Given the description of an element on the screen output the (x, y) to click on. 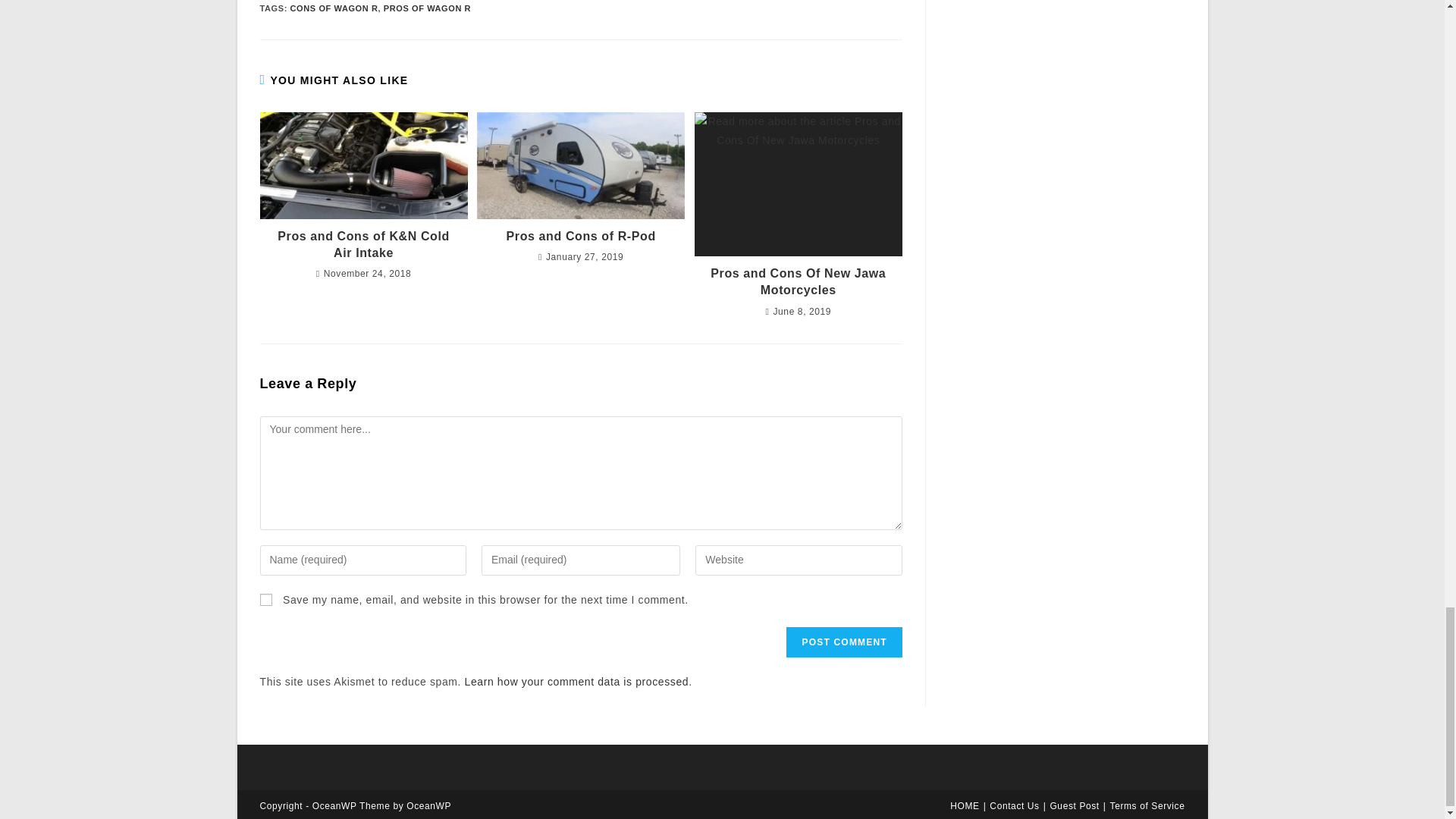
Post Comment (843, 642)
yes (264, 599)
